Given the description of an element on the screen output the (x, y) to click on. 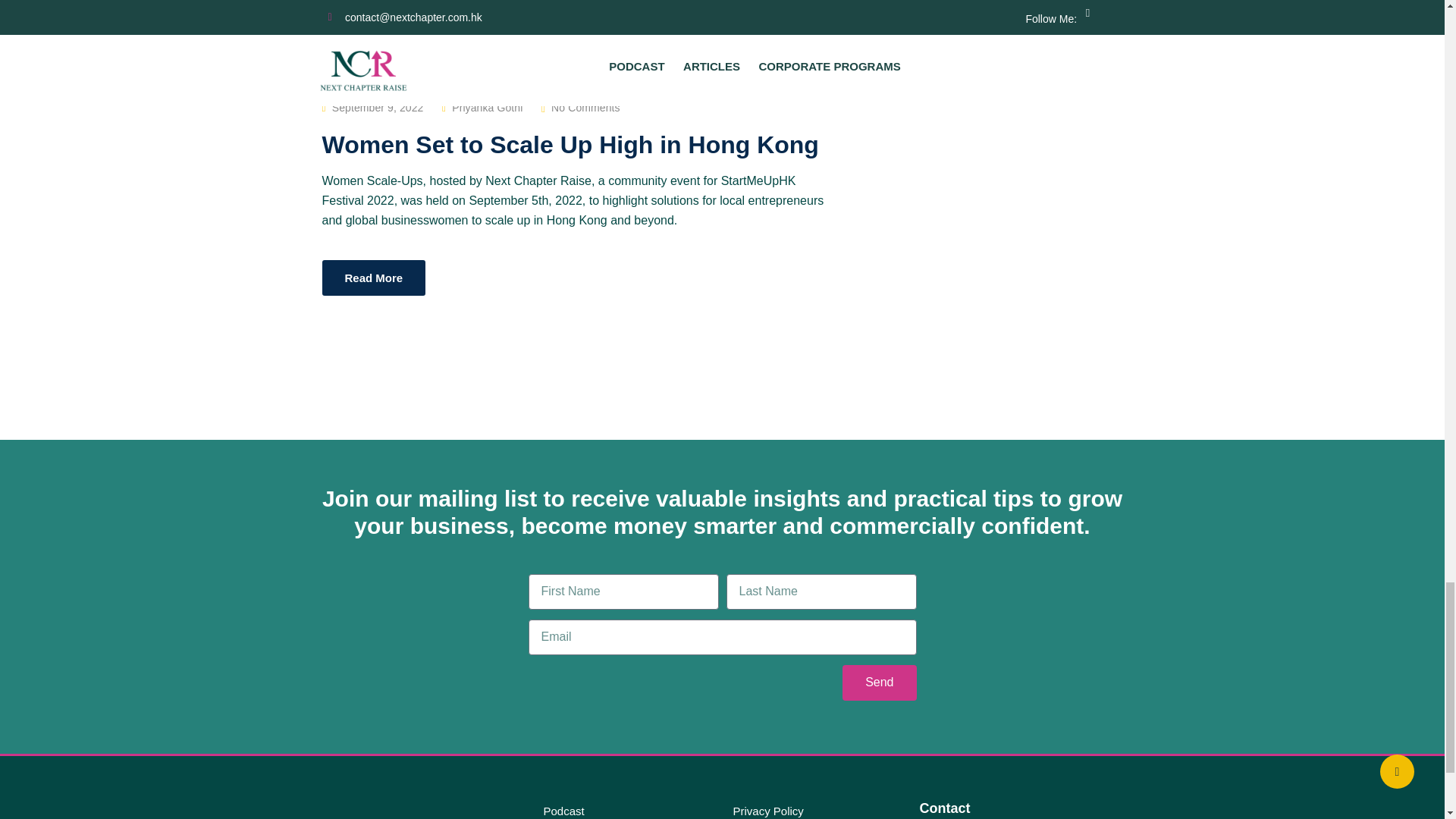
No Comments (585, 107)
Priyanka Gothi (486, 107)
September 9, 2022 (377, 107)
Women Set to Scale Up High in Hong Kong (569, 144)
Read More (373, 277)
